Given the description of an element on the screen output the (x, y) to click on. 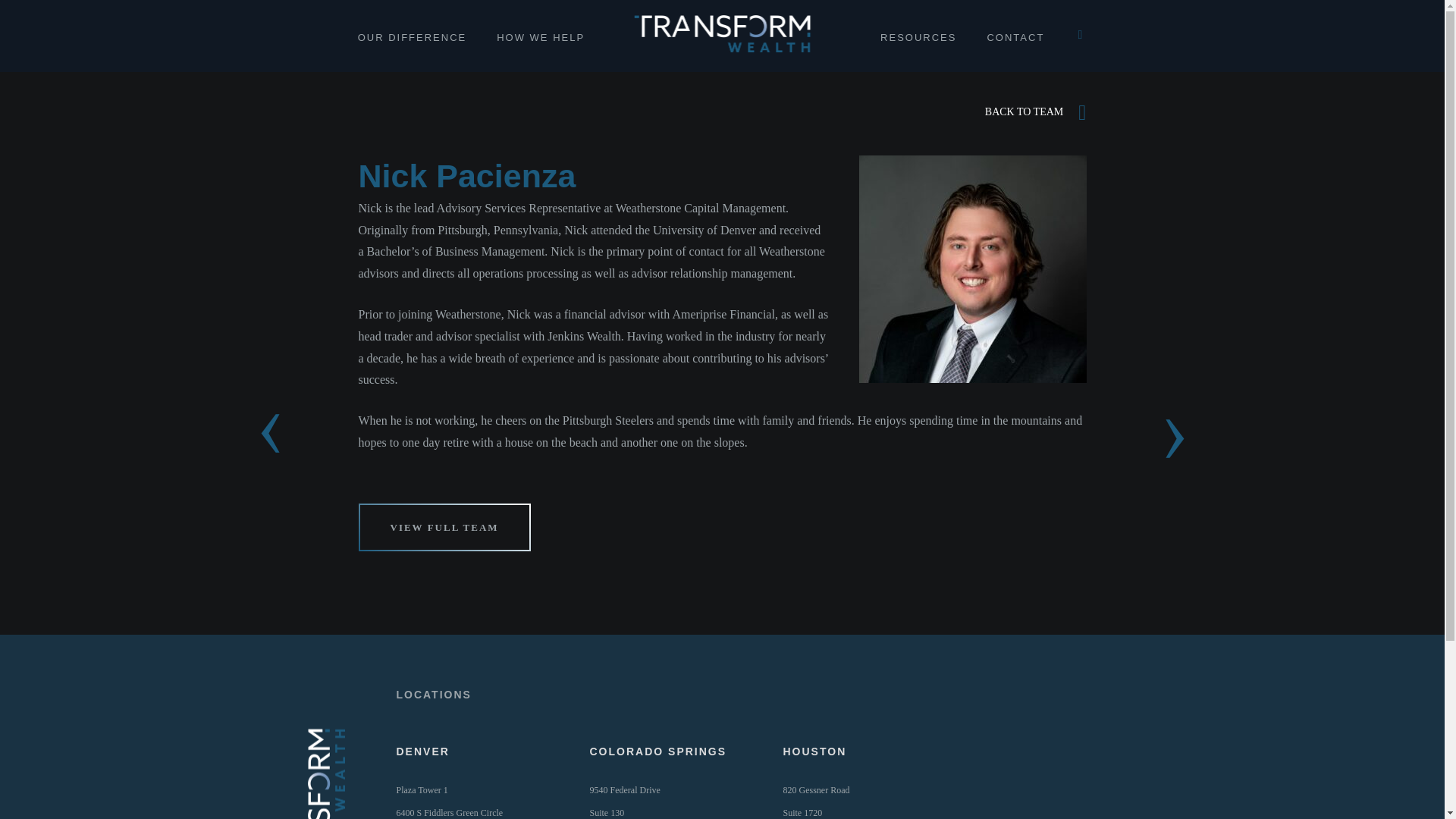
HOW WE HELP (643, 801)
CLIENT LOGIN (540, 37)
Skip to content (1080, 34)
RESOURCES (818, 801)
OUR DIFFERENCE (1035, 112)
VIEW FULL TEAM (918, 37)
